Given the description of an element on the screen output the (x, y) to click on. 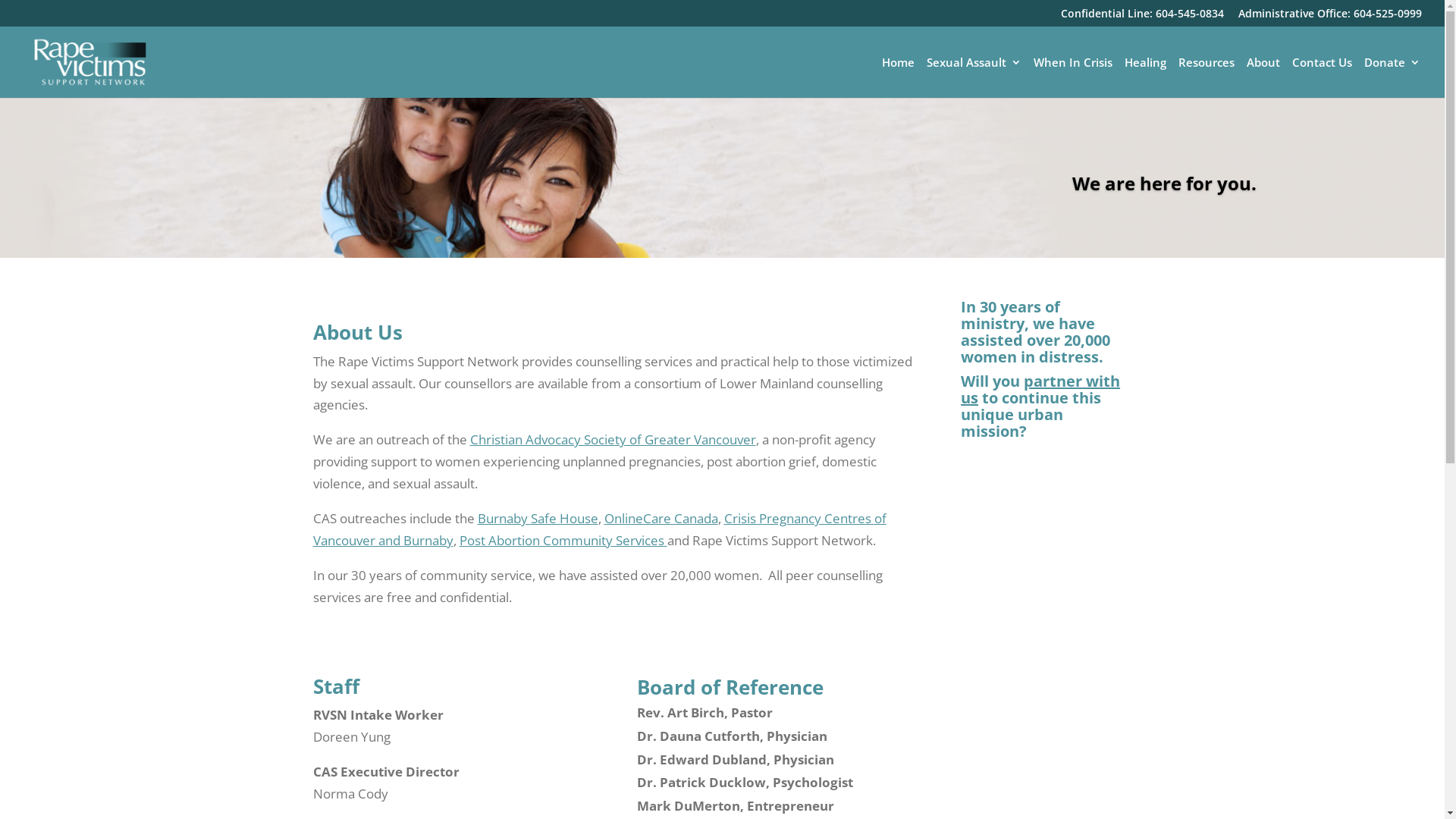
When In Crisis Element type: text (1072, 76)
Administrative Office: 604-525-0999 Element type: text (1329, 16)
Burnaby Safe House Element type: text (537, 518)
Confidential Line: 604-545-0834 Element type: text (1141, 16)
Contact Us Element type: text (1322, 76)
OnlineCare Canada Element type: text (660, 518)
Crisis Pregnancy Centres of Vancouver and Burnaby Element type: text (598, 529)
Christian Advocacy Society of Greater Vancouver Element type: text (613, 439)
partner with us Element type: text (1040, 388)
Post Abortion Community Services  Element type: text (563, 540)
About Element type: text (1263, 76)
Resources Element type: text (1206, 76)
Sexual Assault Element type: text (973, 76)
Home Element type: text (897, 76)
Healing Element type: text (1145, 76)
Donate Element type: text (1392, 76)
